Given the description of an element on the screen output the (x, y) to click on. 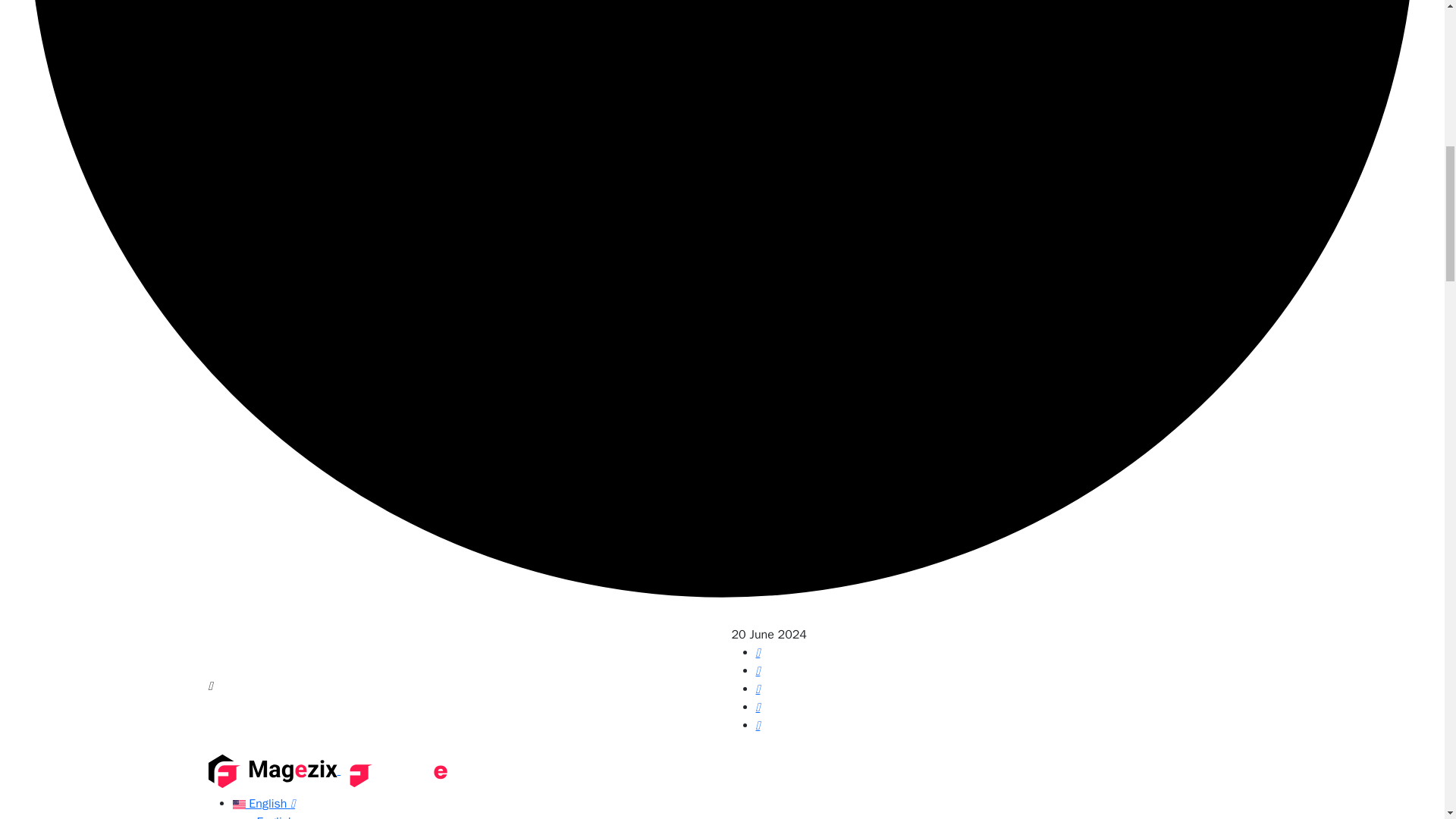
English (263, 803)
English (275, 816)
